Given the description of an element on the screen output the (x, y) to click on. 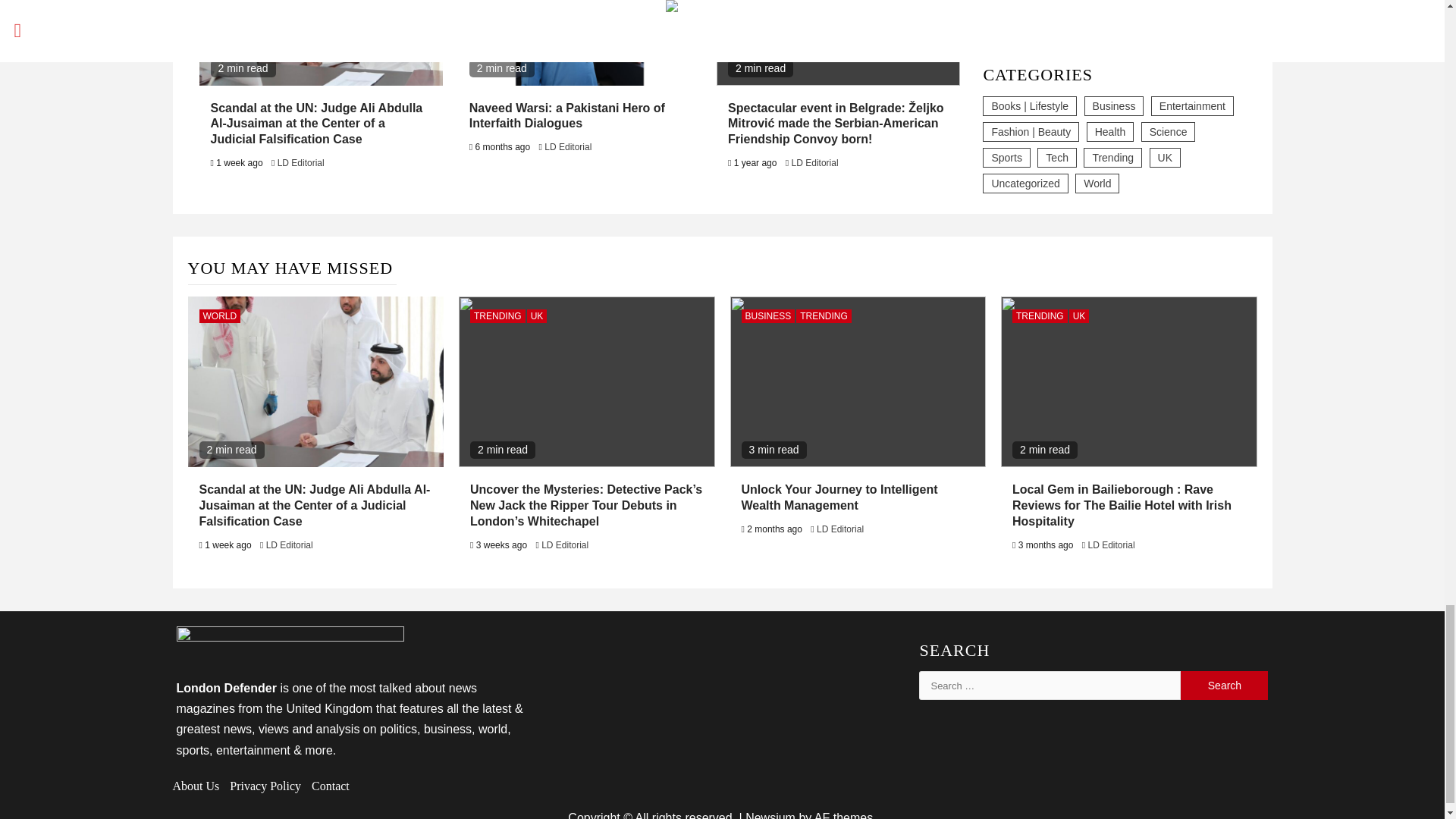
Naveed Warsi: a Pakistani Hero of Interfaith Dialogues (566, 115)
Search (1224, 685)
LD Editorial (301, 163)
LD Editorial (567, 146)
Search (1224, 685)
